Given the description of an element on the screen output the (x, y) to click on. 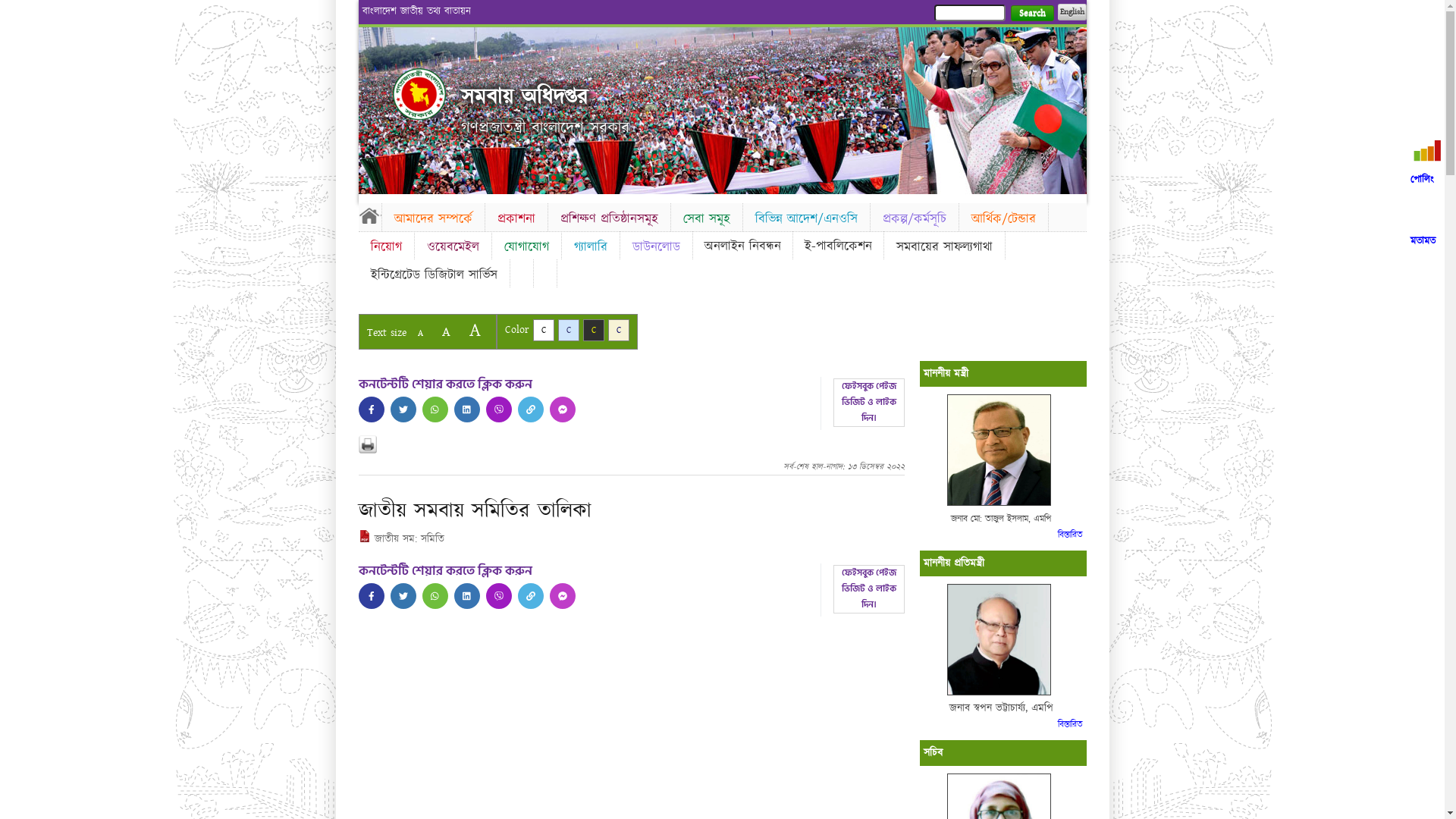
A Element type: text (474, 330)
Search Element type: text (1031, 13)
Home Element type: hover (368, 215)
C Element type: text (542, 330)
English Element type: text (1071, 11)
C Element type: text (568, 330)
A Element type: text (445, 331)
C Element type: text (618, 330)
A Element type: text (419, 333)
Home Element type: hover (418, 93)
C Element type: text (592, 330)
